Given the description of an element on the screen output the (x, y) to click on. 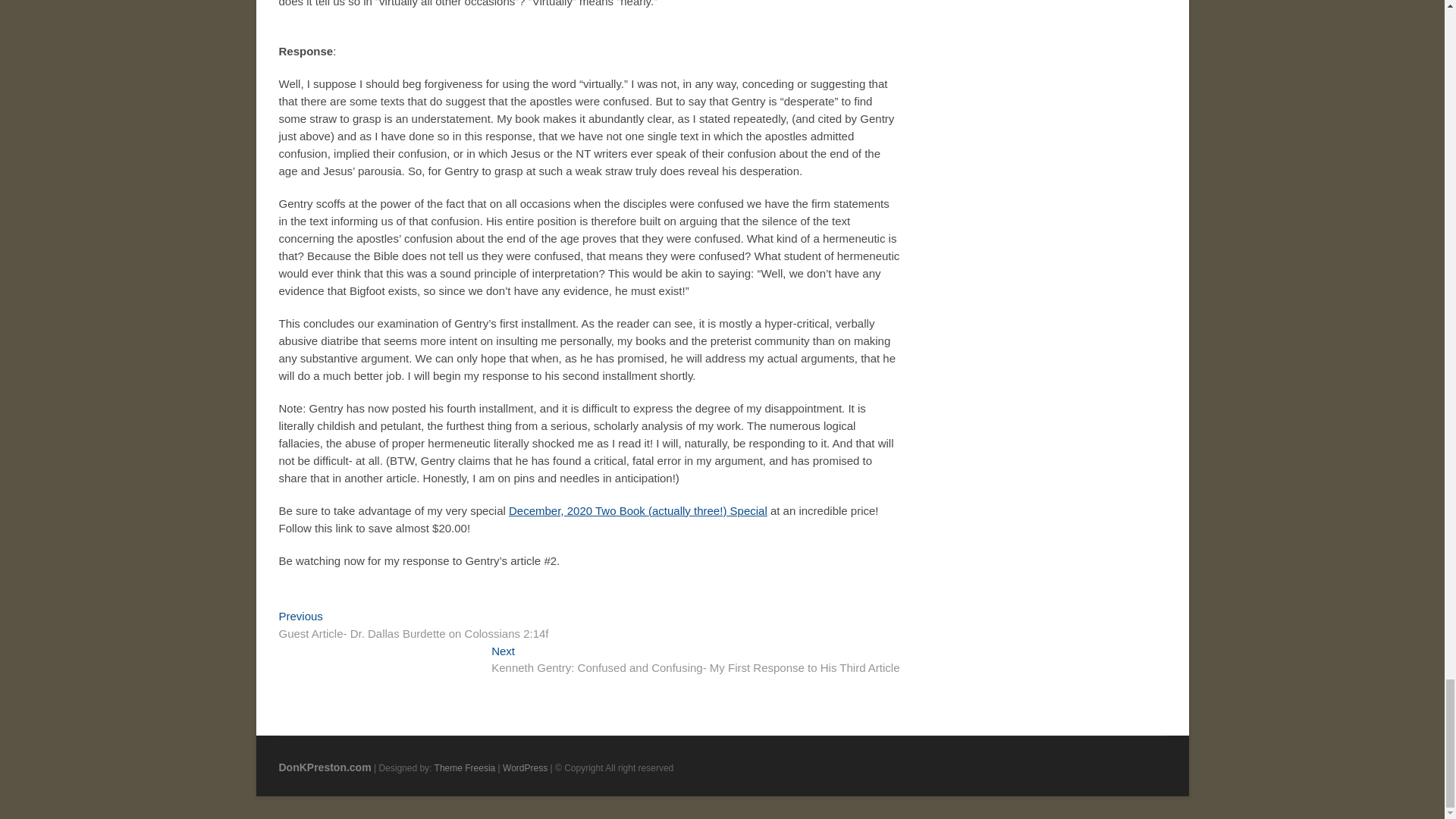
Theme Freesia (464, 767)
DonKPreston.com (325, 767)
WordPress (524, 767)
December 2020 Book Special (637, 510)
